Given the description of an element on the screen output the (x, y) to click on. 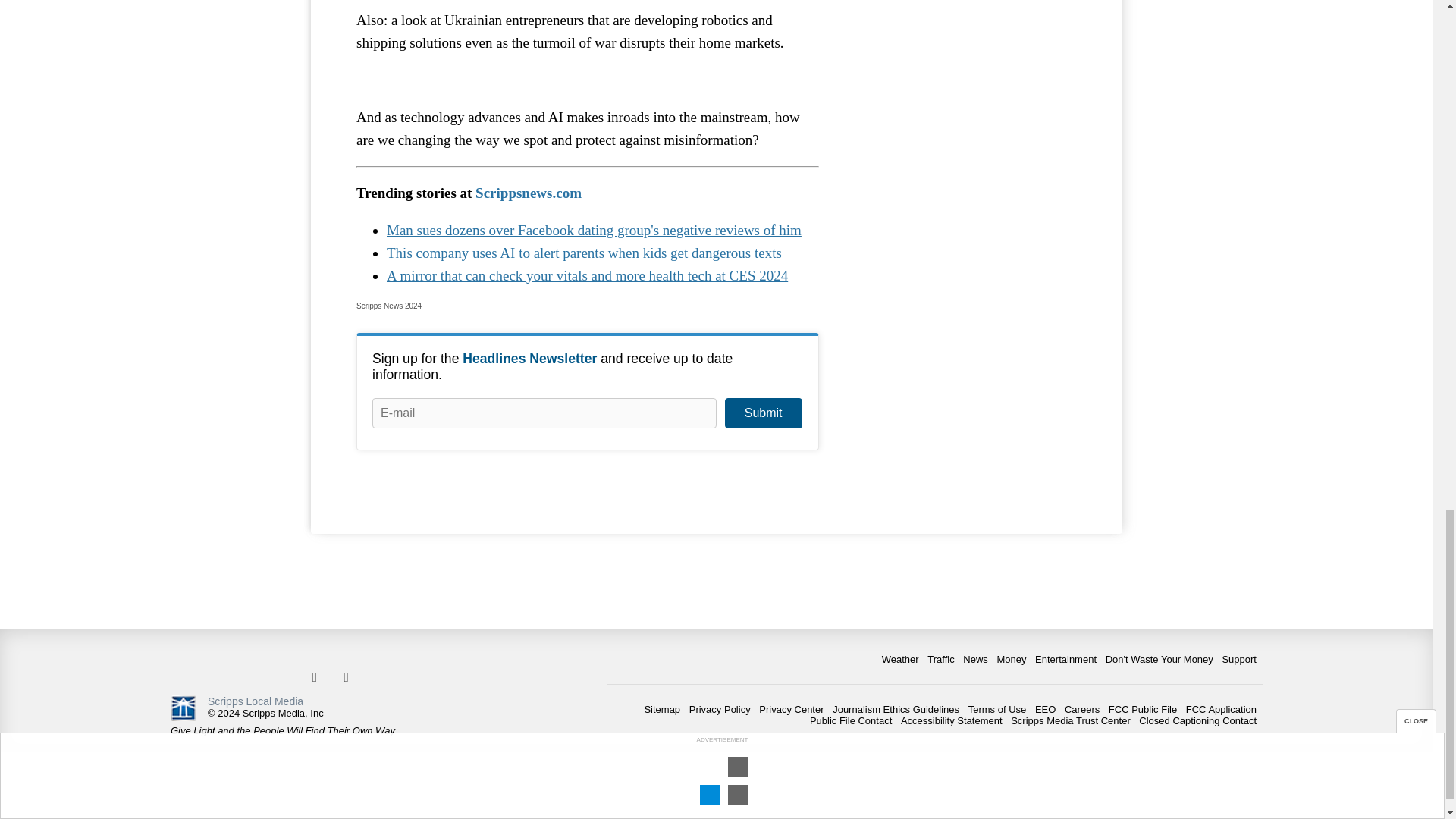
Submit (763, 413)
